Given the description of an element on the screen output the (x, y) to click on. 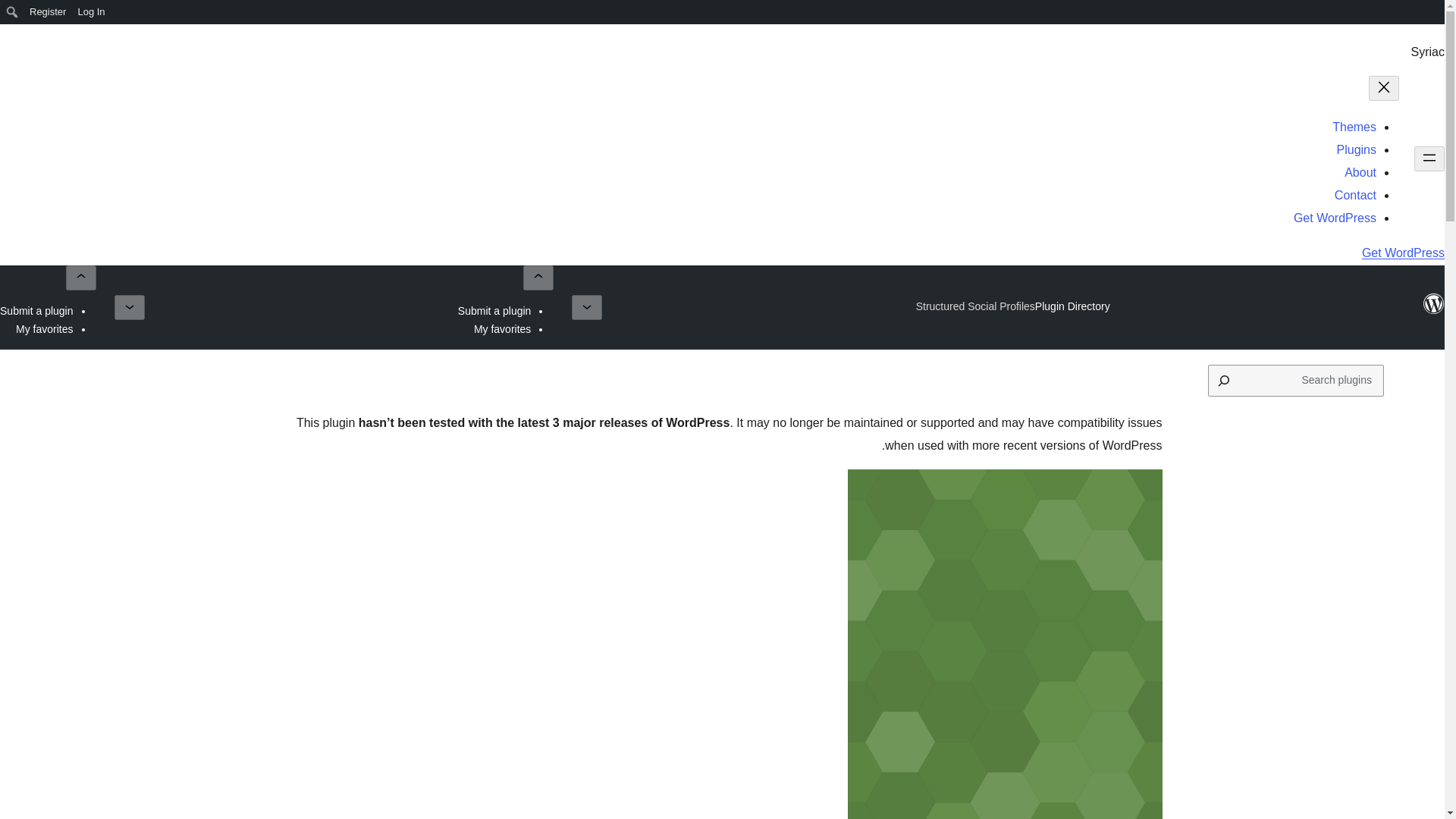
Register (47, 12)
Structured Social Profiles (975, 307)
Plugin Directory (1072, 306)
About (1359, 172)
Log In (90, 12)
My favorites (502, 328)
Themes (1353, 126)
Plugins (1355, 149)
Submit a plugin (494, 310)
Get WordPress (1334, 217)
Submit a plugin (37, 310)
Search (16, 13)
My favorites (44, 328)
Contact (1355, 195)
